Given the description of an element on the screen output the (x, y) to click on. 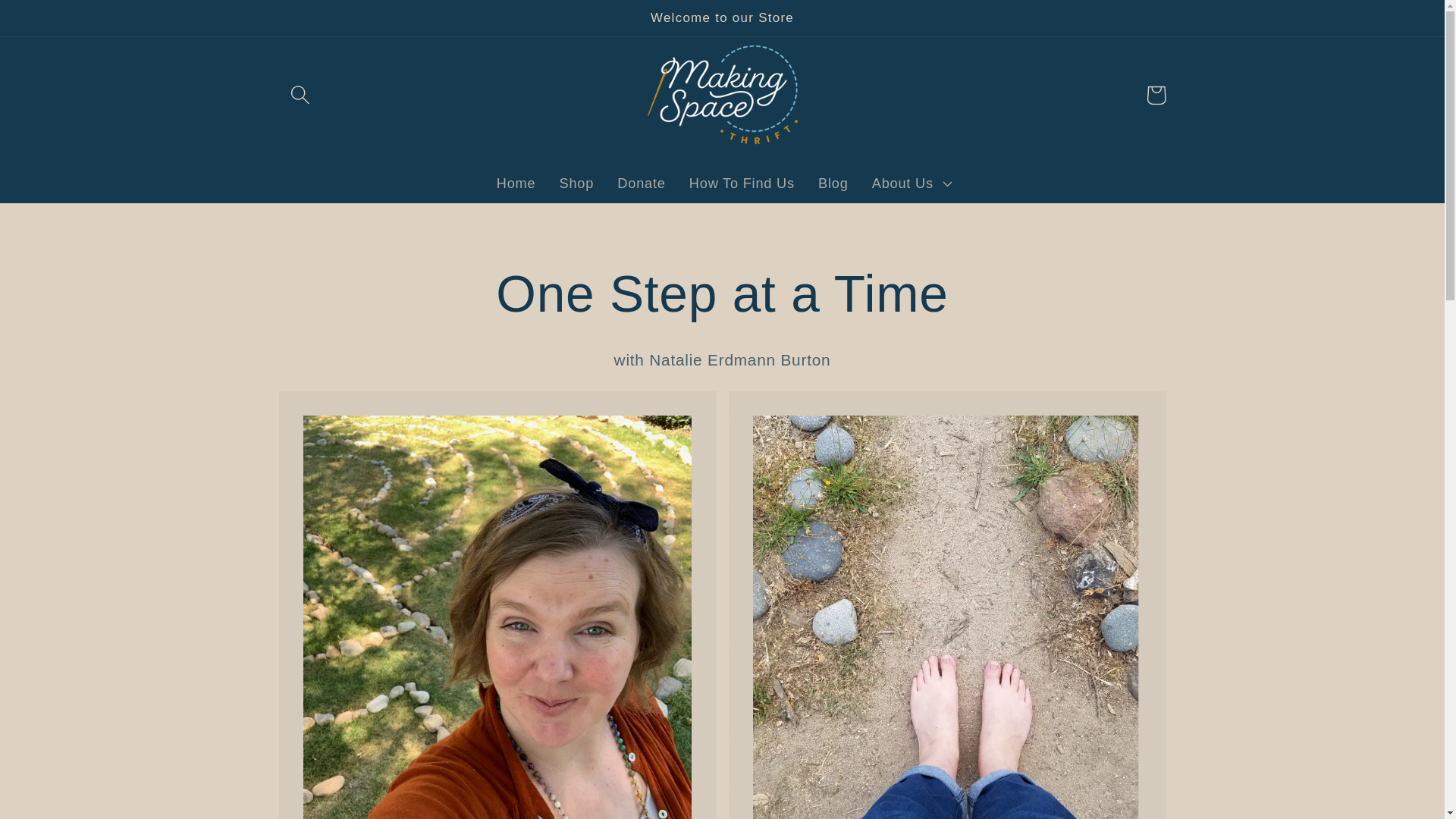
Skip to content (59, 22)
Shop (576, 182)
Donate (641, 182)
Cart (1155, 95)
Home (515, 182)
How To Find Us (741, 182)
Blog (833, 182)
